Given the description of an element on the screen output the (x, y) to click on. 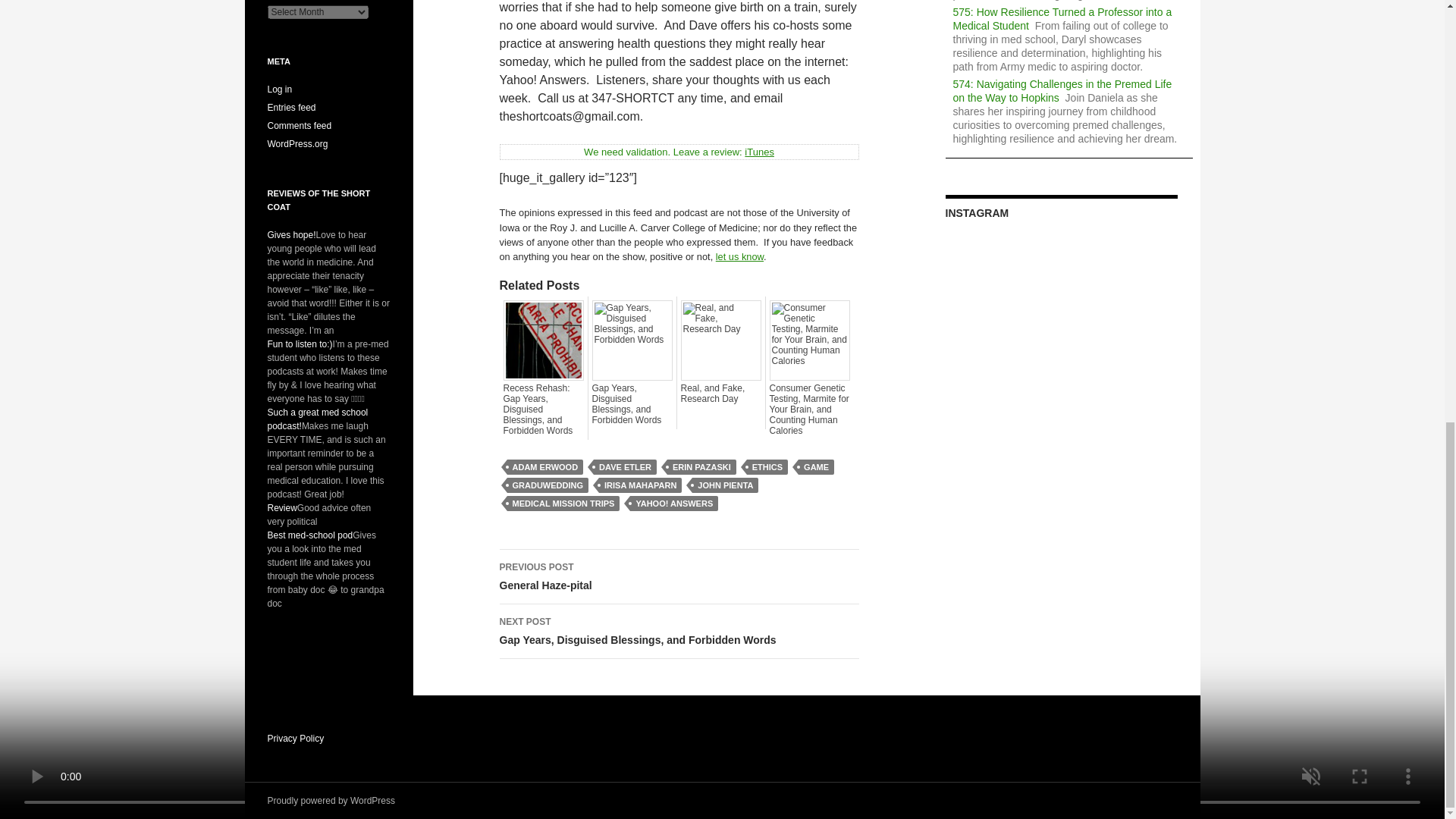
iTunes (759, 152)
let us know (739, 256)
Gap Years, Disguised Blessings, and Forbidden Words (631, 404)
Talk to Us! (739, 256)
Review The Short Coat Podcast on iTunes (759, 152)
Real, and Fake, Research Day (721, 393)
